Given the description of an element on the screen output the (x, y) to click on. 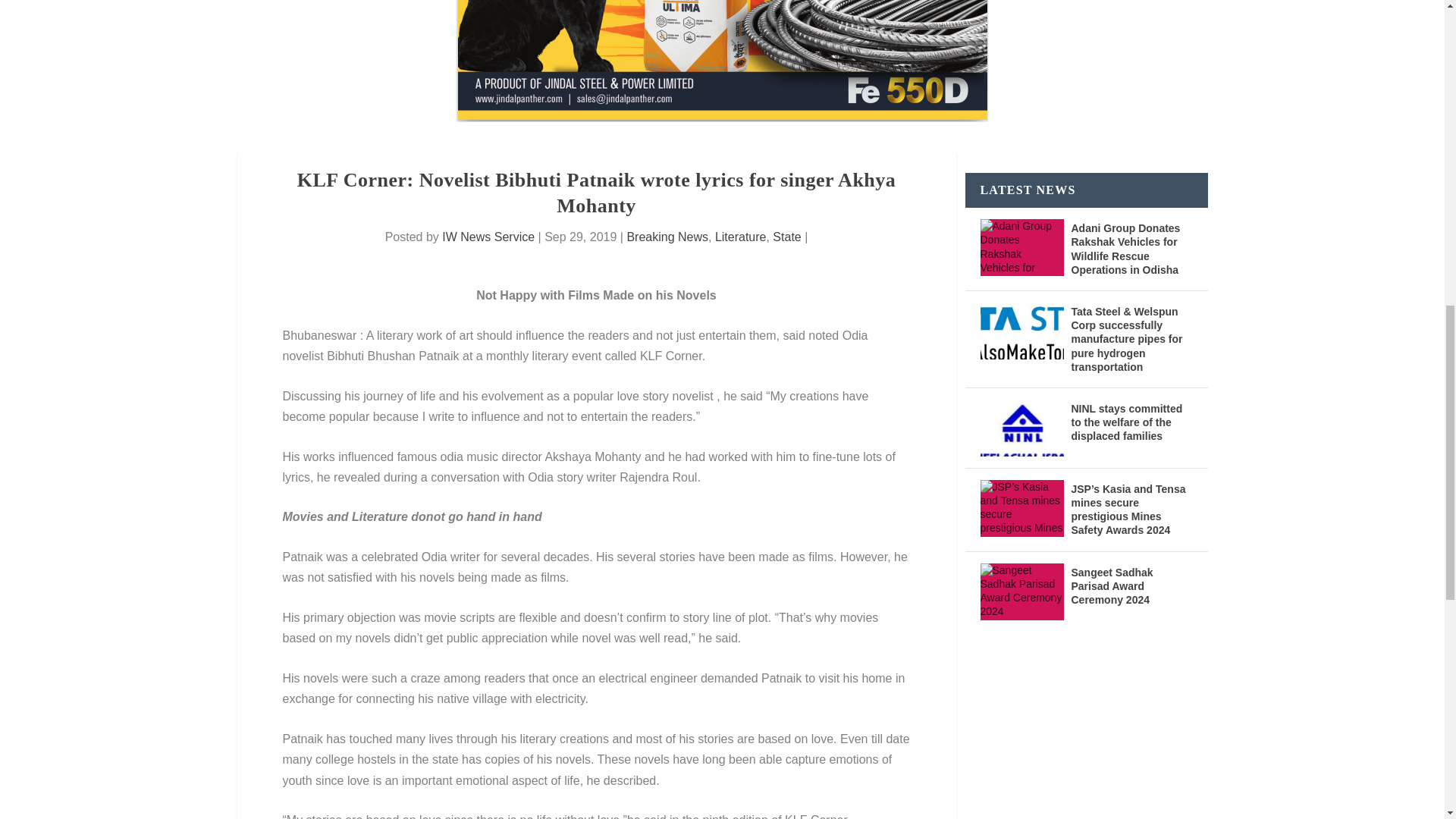
Sangeet Sadhak Parisad Award Ceremony 2024 (1020, 591)
Posts by IW News Service (488, 236)
Breaking News (666, 236)
IW News Service (488, 236)
Literature (740, 236)
